Given the description of an element on the screen output the (x, y) to click on. 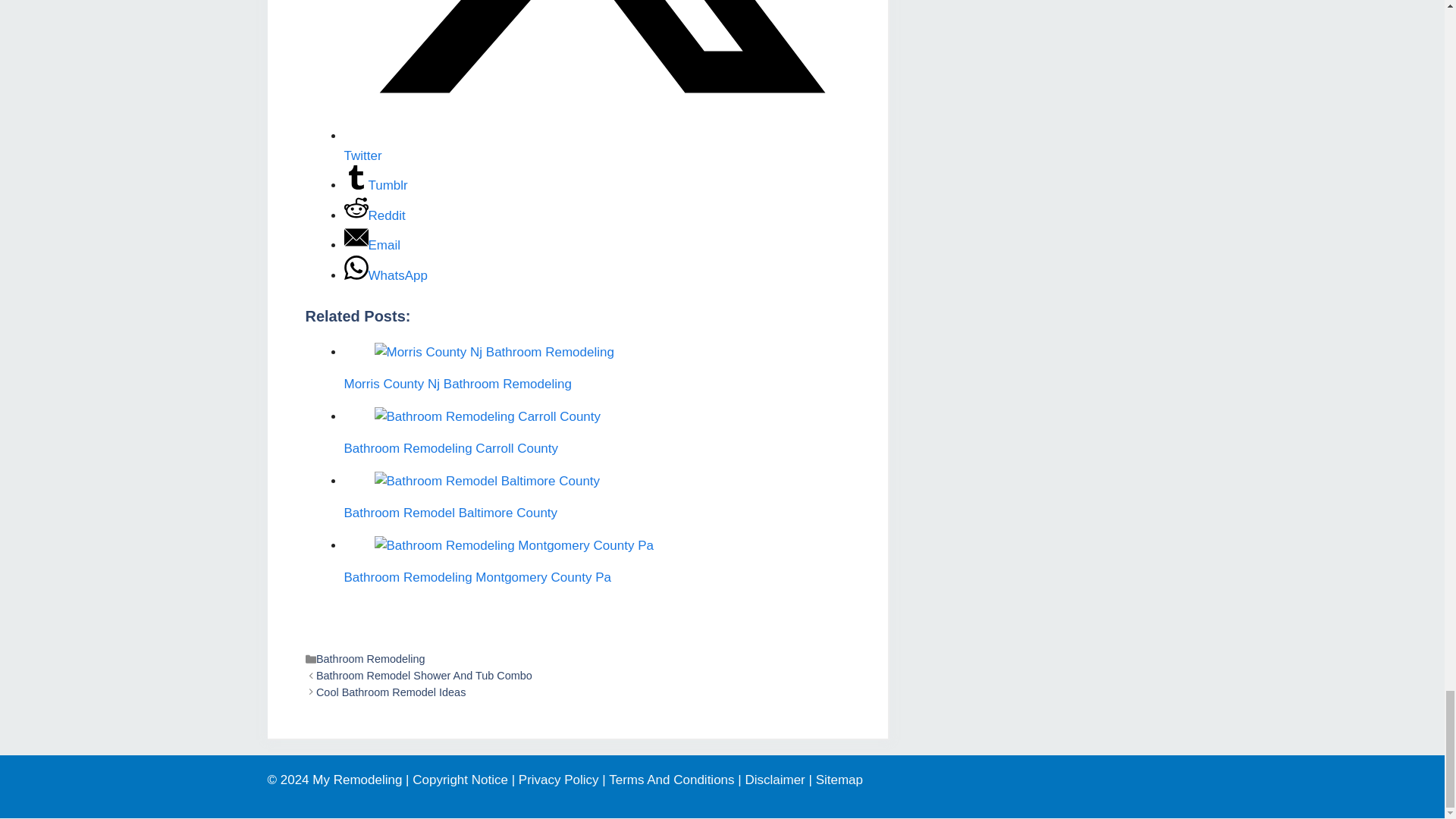
Share on Reddit (374, 215)
Share on Tumblr (375, 185)
Share on Email (372, 245)
Share on WhatsApp (385, 275)
Share on Twitter (596, 145)
